Given the description of an element on the screen output the (x, y) to click on. 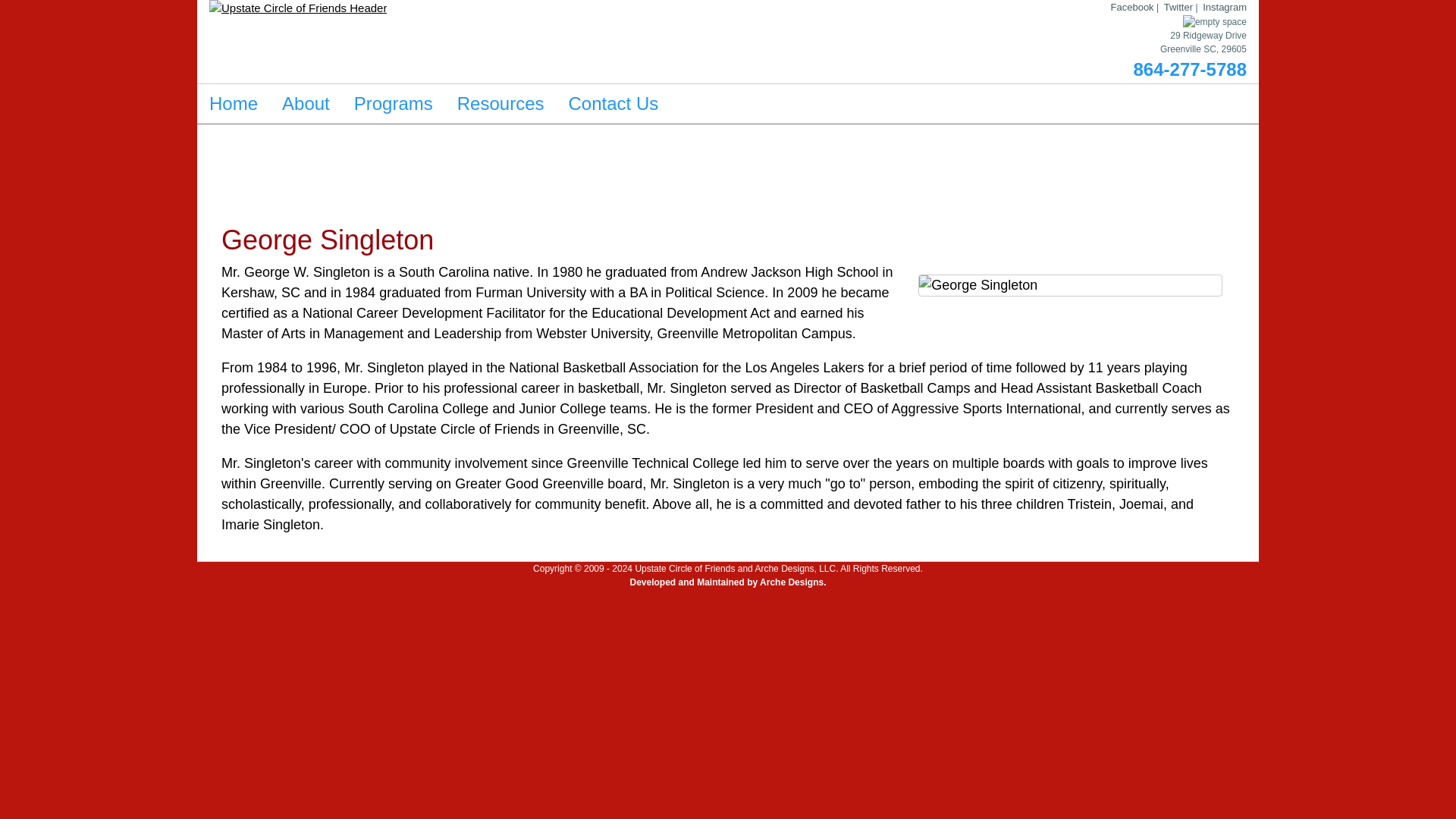
Resources (500, 102)
Programs (393, 102)
Home (232, 102)
Contact Us (613, 102)
About (305, 102)
